Given the description of an element on the screen output the (x, y) to click on. 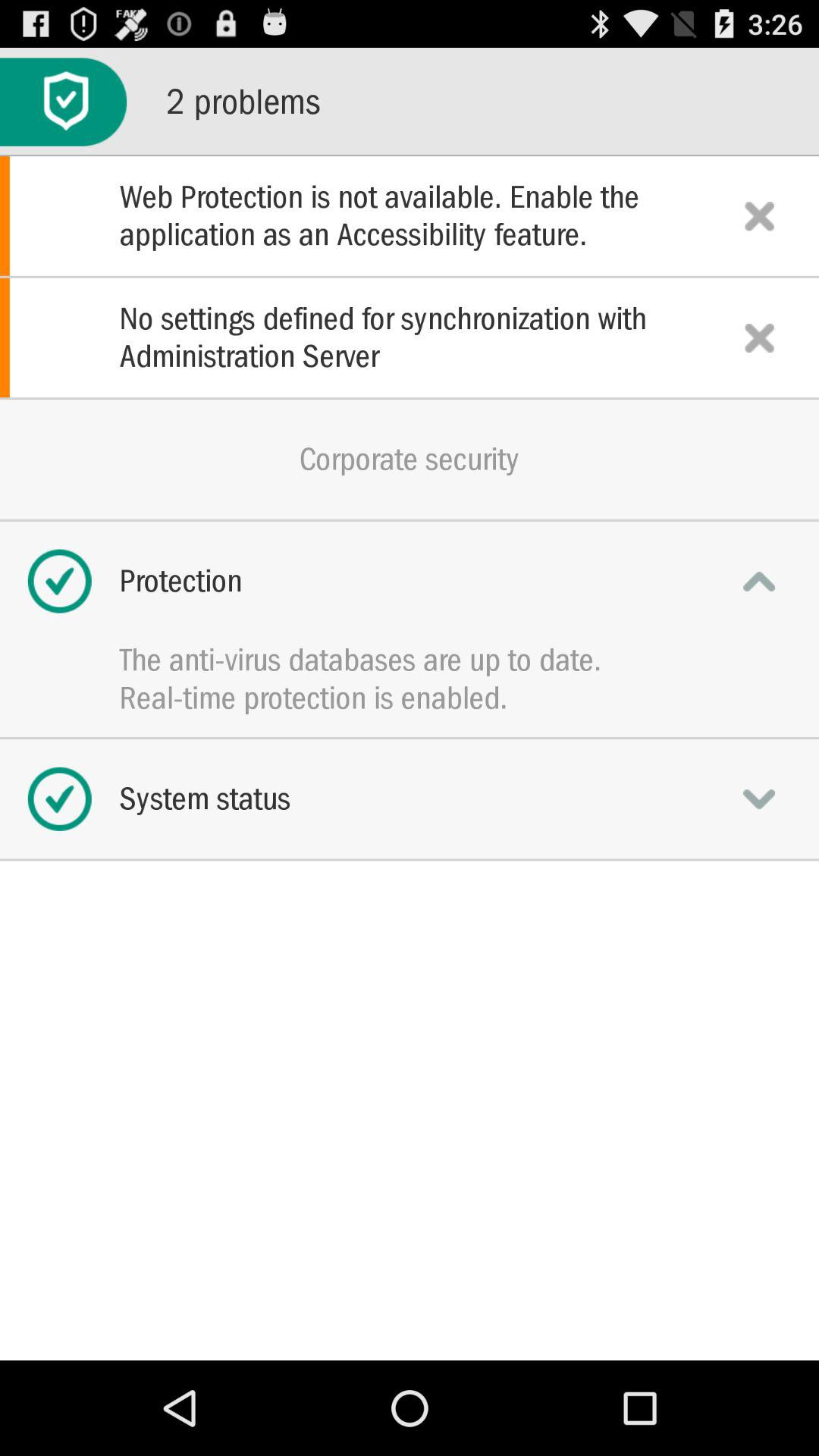
turn on real time protection app (409, 698)
